Given the description of an element on the screen output the (x, y) to click on. 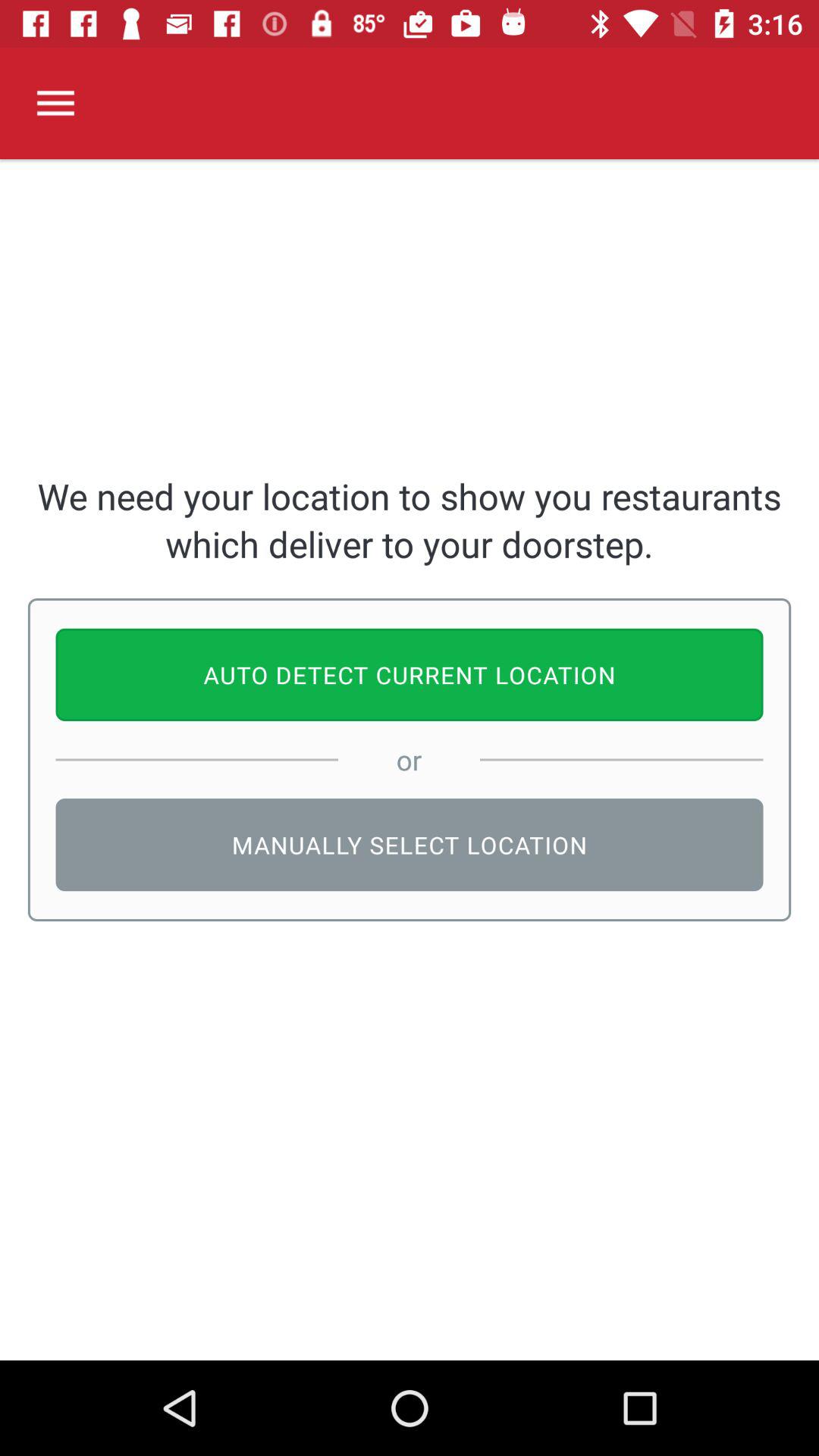
turn off the item at the top left corner (55, 103)
